Given the description of an element on the screen output the (x, y) to click on. 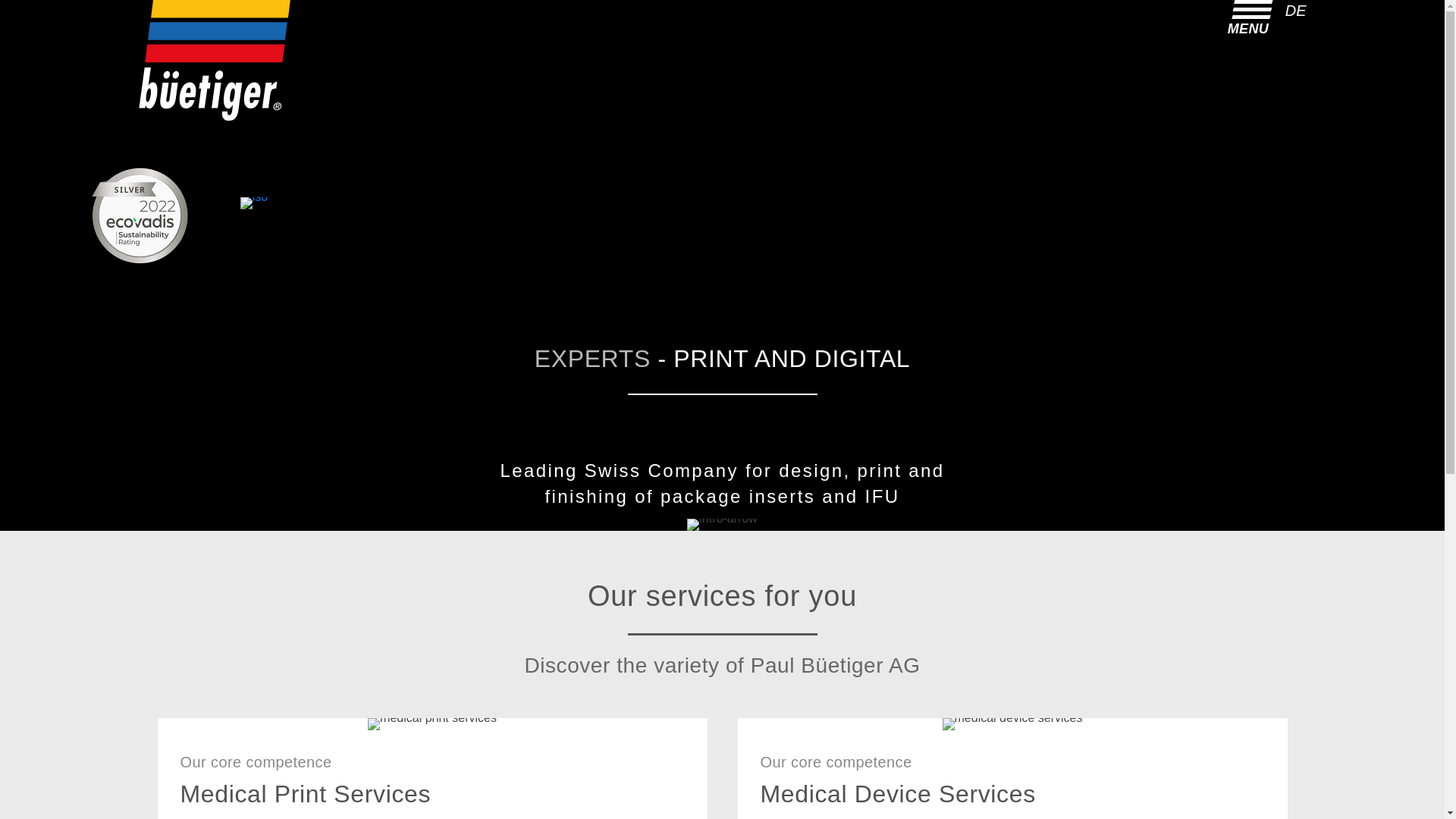
iso13485-sticker Element type: hover (253, 203)
ref_Leaflets_finishing_bibi_1024x768px Element type: hover (431, 724)
ecovadis-22 Element type: hover (140, 215)
medical-device-services Element type: hover (1012, 724)
intro-arrow Element type: hover (721, 524)
DE Element type: text (1295, 10)
